Given the description of an element on the screen output the (x, y) to click on. 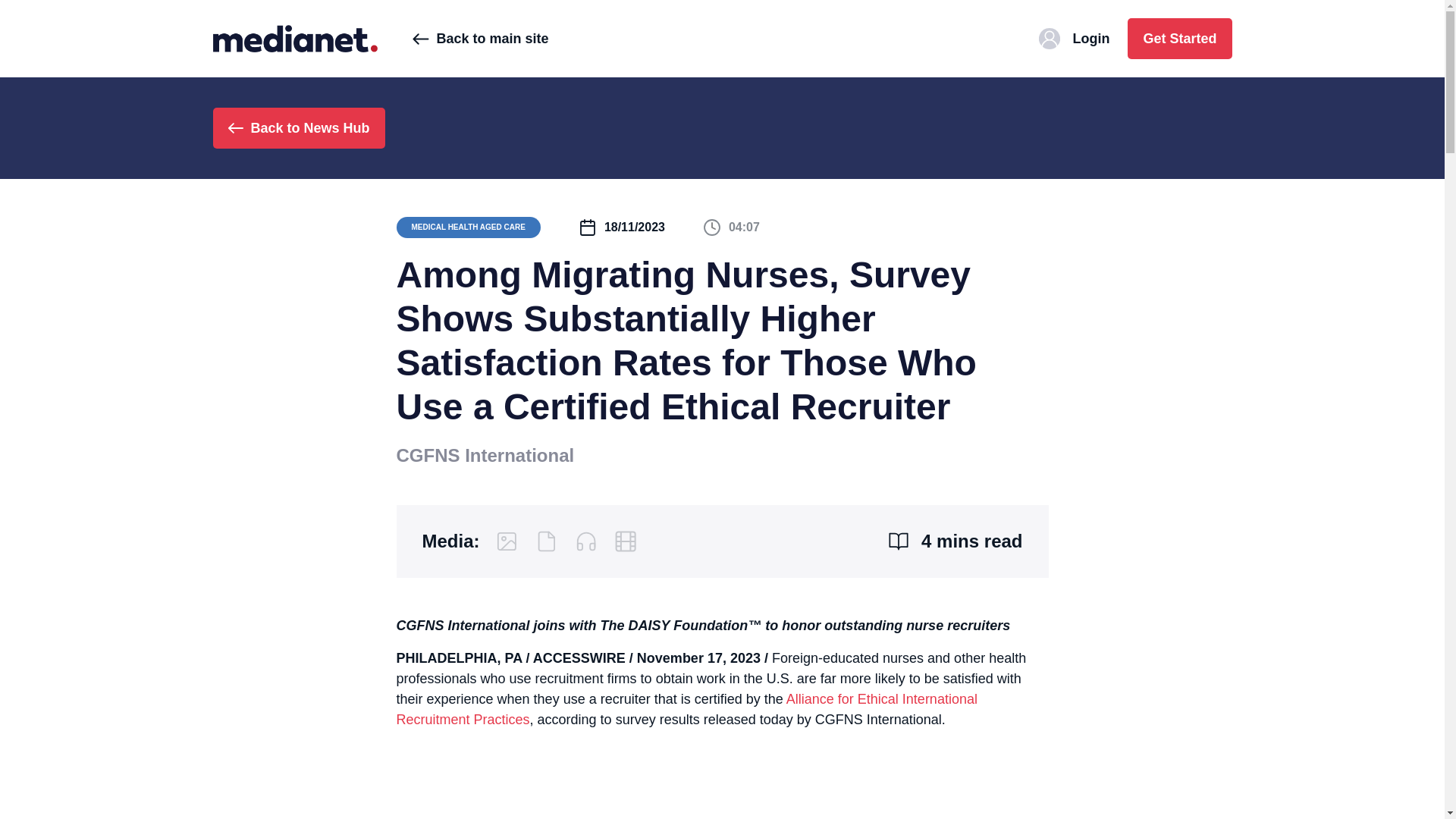
No audio attachments (585, 541)
Get Started (1178, 38)
News Hub (294, 38)
Login (1074, 38)
Back to News Hub (298, 127)
Alliance for Ethical International Recruitment Practices (686, 709)
No image attachments (507, 541)
Back to main site (480, 38)
No file attachments (546, 541)
No video attachments (624, 541)
